Given the description of an element on the screen output the (x, y) to click on. 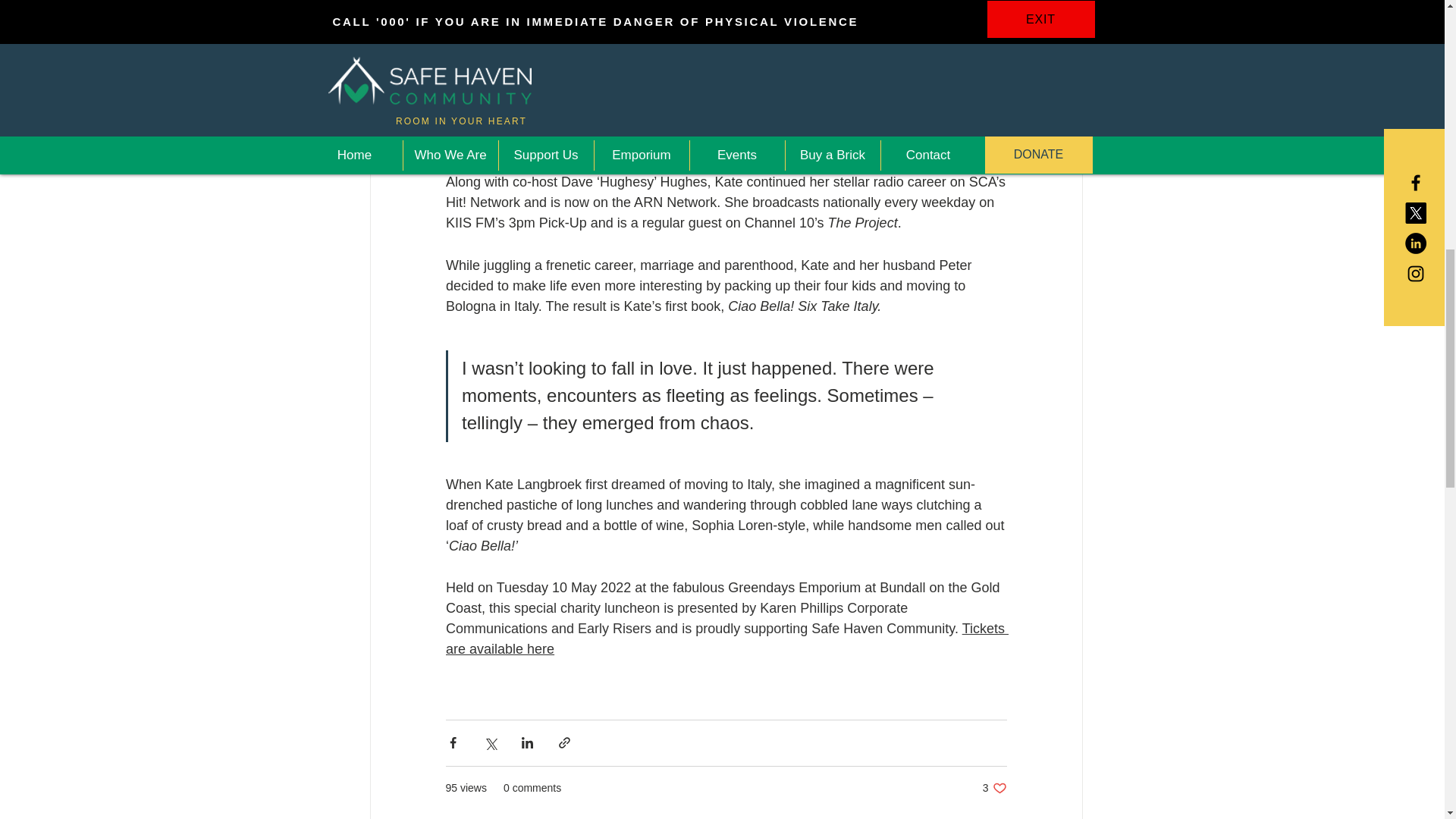
Tickets are available here (727, 637)
